Given the description of an element on the screen output the (x, y) to click on. 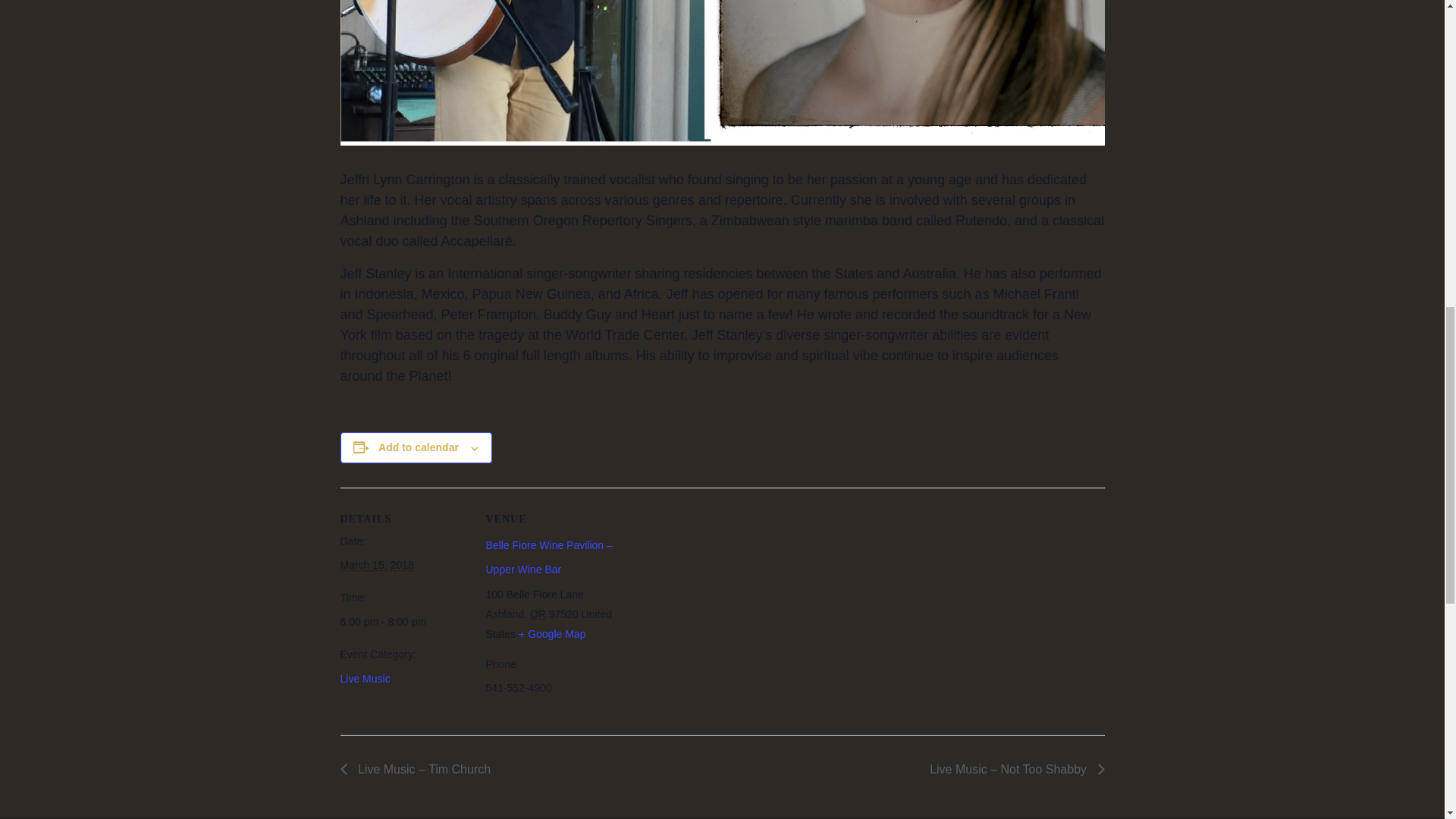
2018-03-15 (403, 621)
2018-03-15 (376, 564)
Oregon (537, 613)
Back to top (1413, 26)
Add to calendar (418, 447)
Click to view a Google Map (551, 633)
Live Music (364, 678)
